Given the description of an element on the screen output the (x, y) to click on. 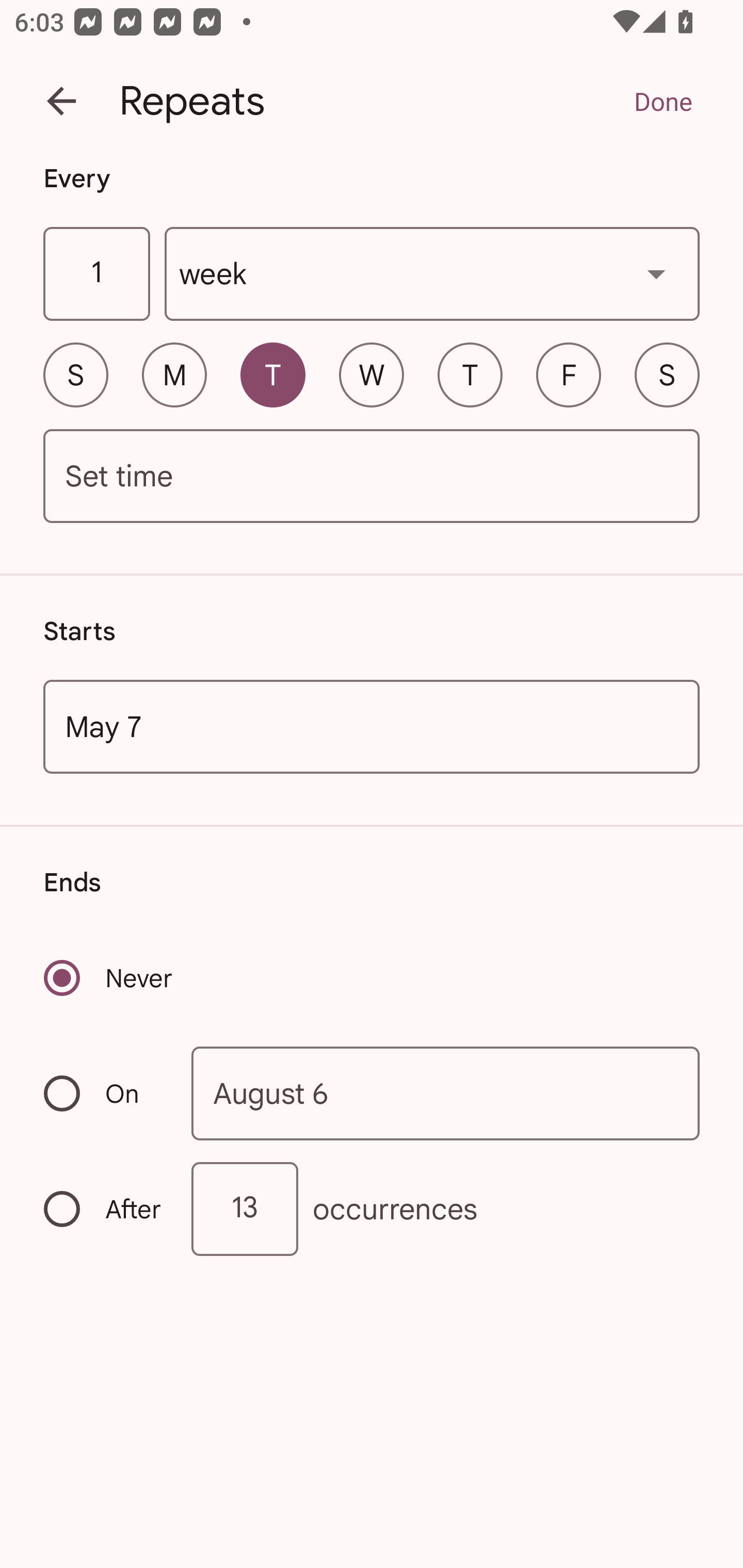
Back (61, 101)
Done (663, 101)
1 (96, 274)
week (431, 274)
Show dropdown menu (655, 273)
S Sunday (75, 374)
M Monday (173, 374)
T Tuesday, selected (272, 374)
W Wednesday (371, 374)
T Thursday (469, 374)
F Friday (568, 374)
S Saturday (666, 374)
Set time (371, 476)
May 7 (371, 726)
Never Recurrence never ends (109, 978)
August 6 (445, 1092)
On Recurrence ends on a specific date (104, 1093)
13 (244, 1208)
